Given the description of an element on the screen output the (x, y) to click on. 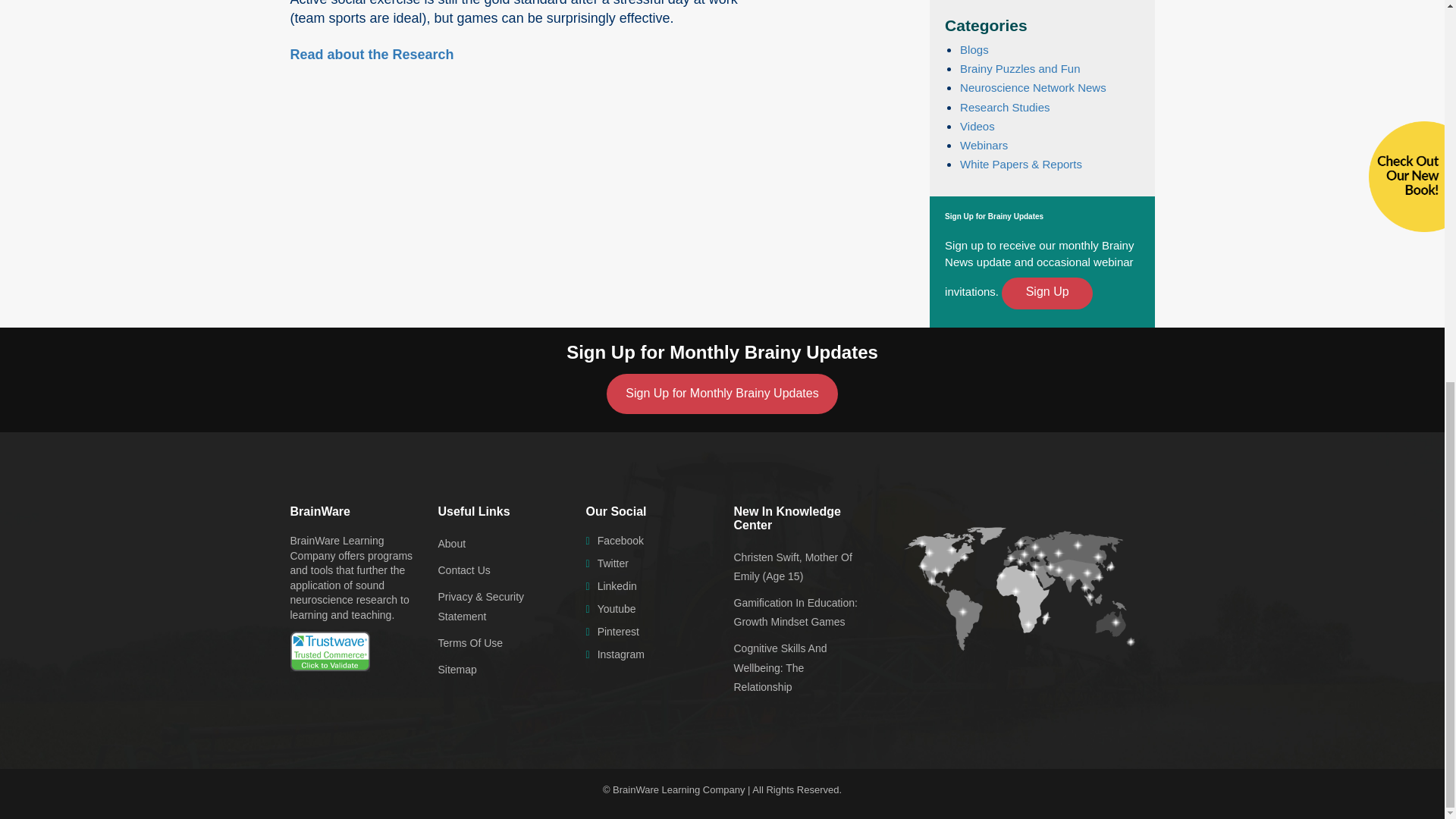
Read about the Research (370, 54)
Blogs (973, 49)
